Given the description of an element on the screen output the (x, y) to click on. 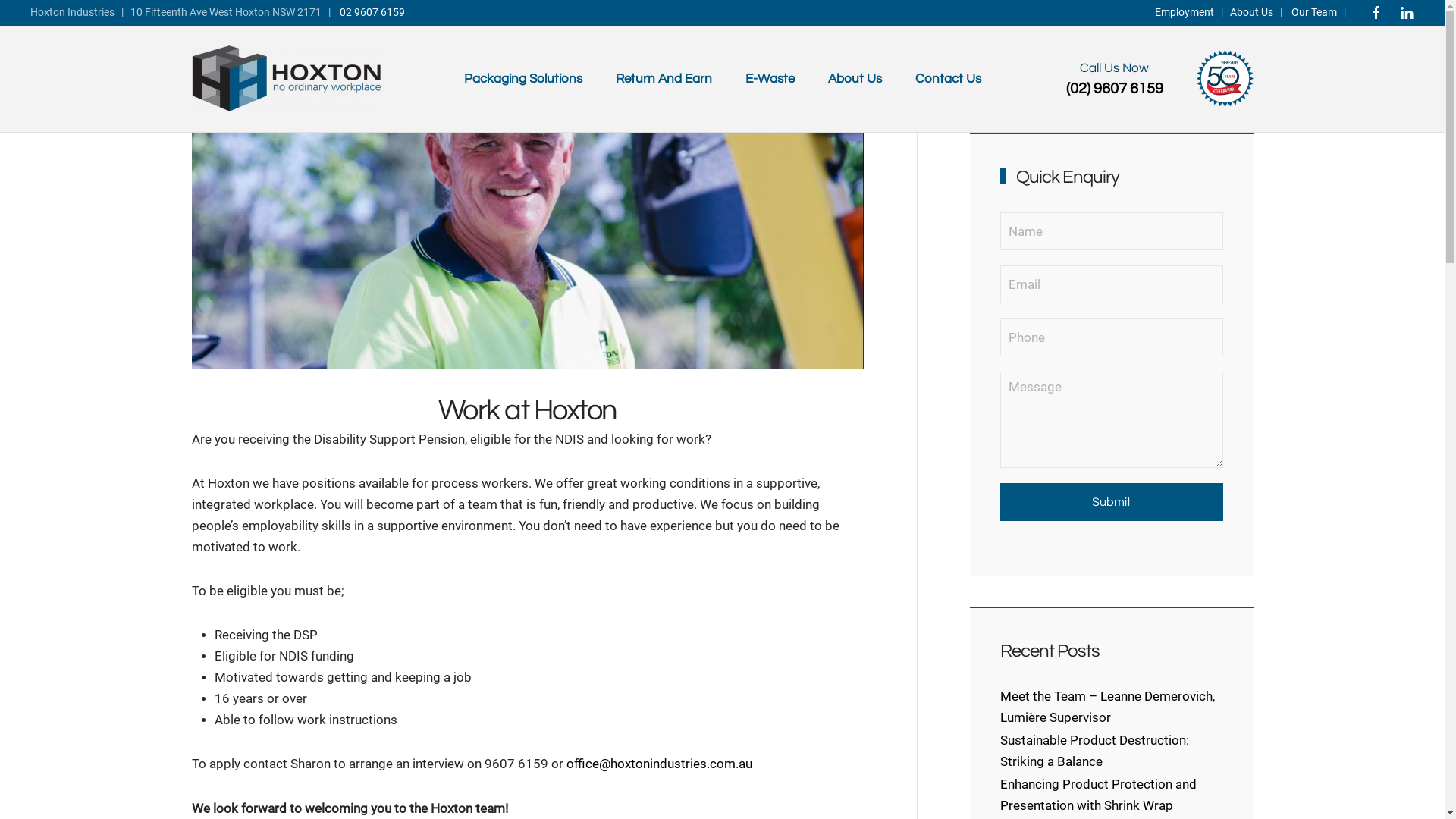
Return And Earn Element type: text (663, 78)
Contact Us Element type: text (947, 78)
E-Waste Element type: text (768, 78)
About Us Element type: text (1251, 12)
Sustainable Product Destruction: Striking a Balance Element type: text (1094, 750)
Employment Element type: text (1184, 12)
office@hoxtonindustries.com.au Element type: text (658, 763)
Submit Element type: text (1111, 501)
About Us Element type: text (854, 78)
Our Team Element type: text (1313, 12)
02 9607 6159 Element type: text (371, 12)
(02) 9607 6159 Element type: text (1114, 88)
Packaging Solutions Element type: text (523, 78)
